Given the description of an element on the screen output the (x, y) to click on. 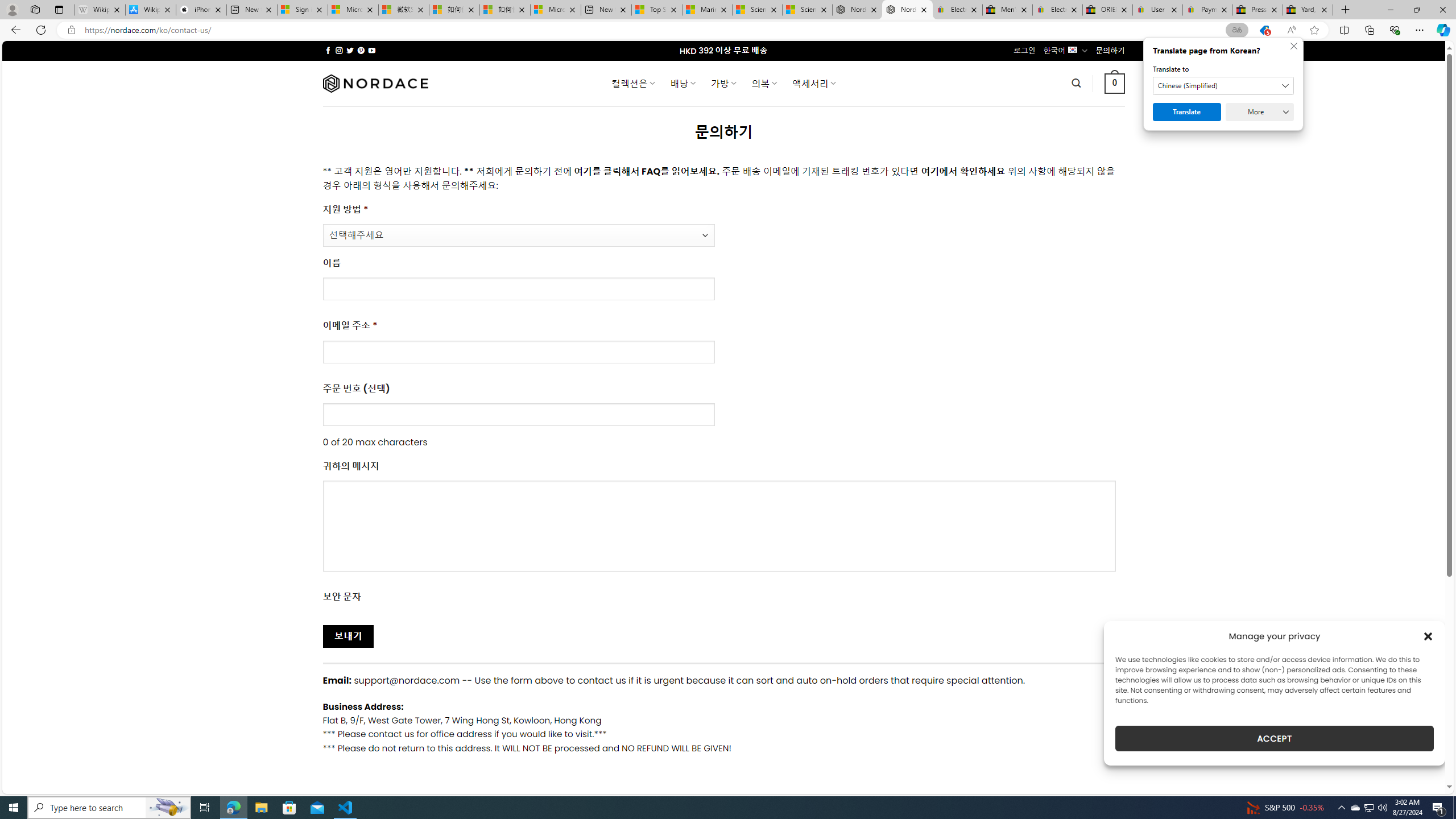
Translate (1187, 112)
More (1259, 112)
